Given the description of an element on the screen output the (x, y) to click on. 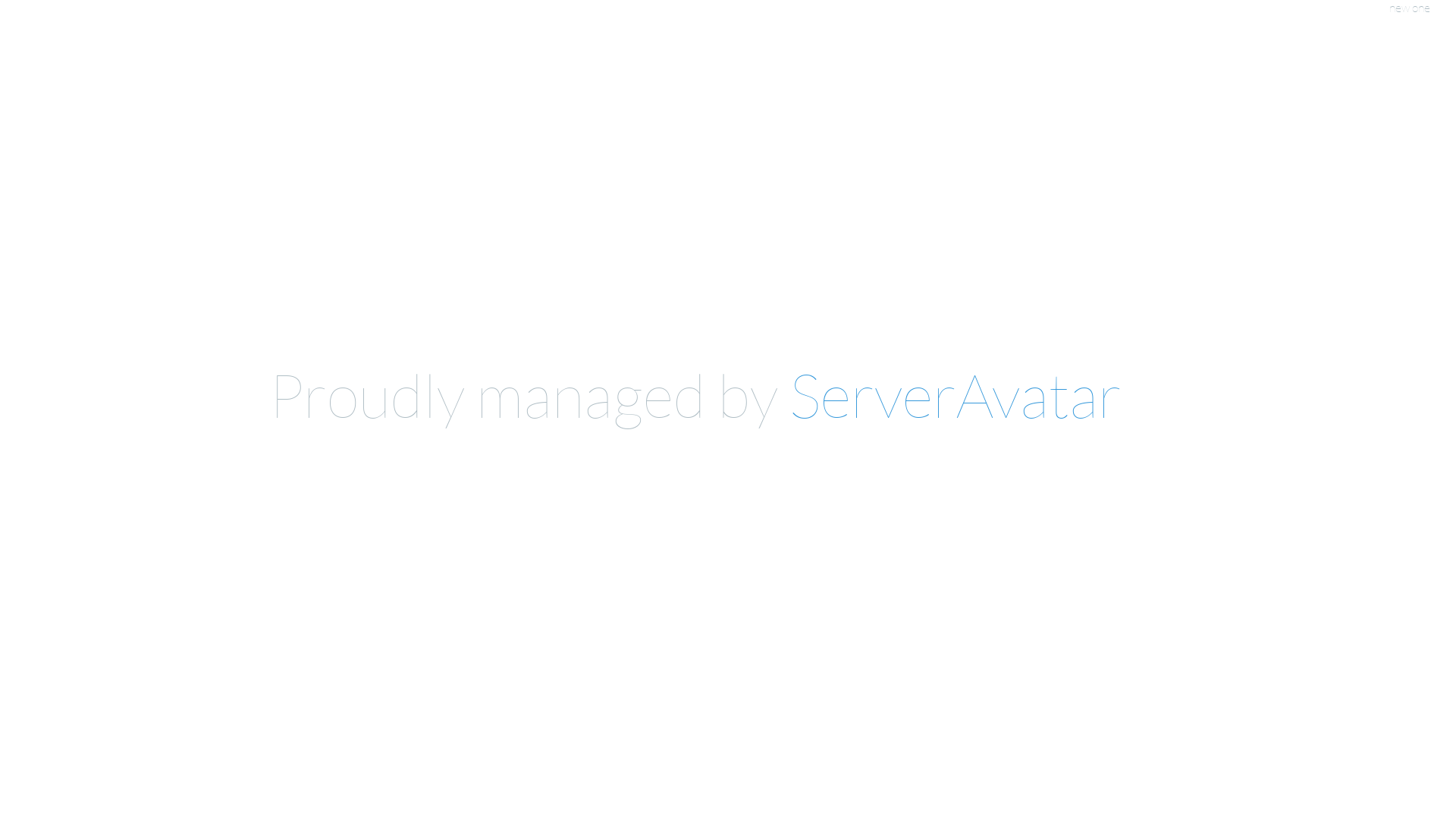
ServerAvatar Element type: text (955, 394)
